Given the description of an element on the screen output the (x, y) to click on. 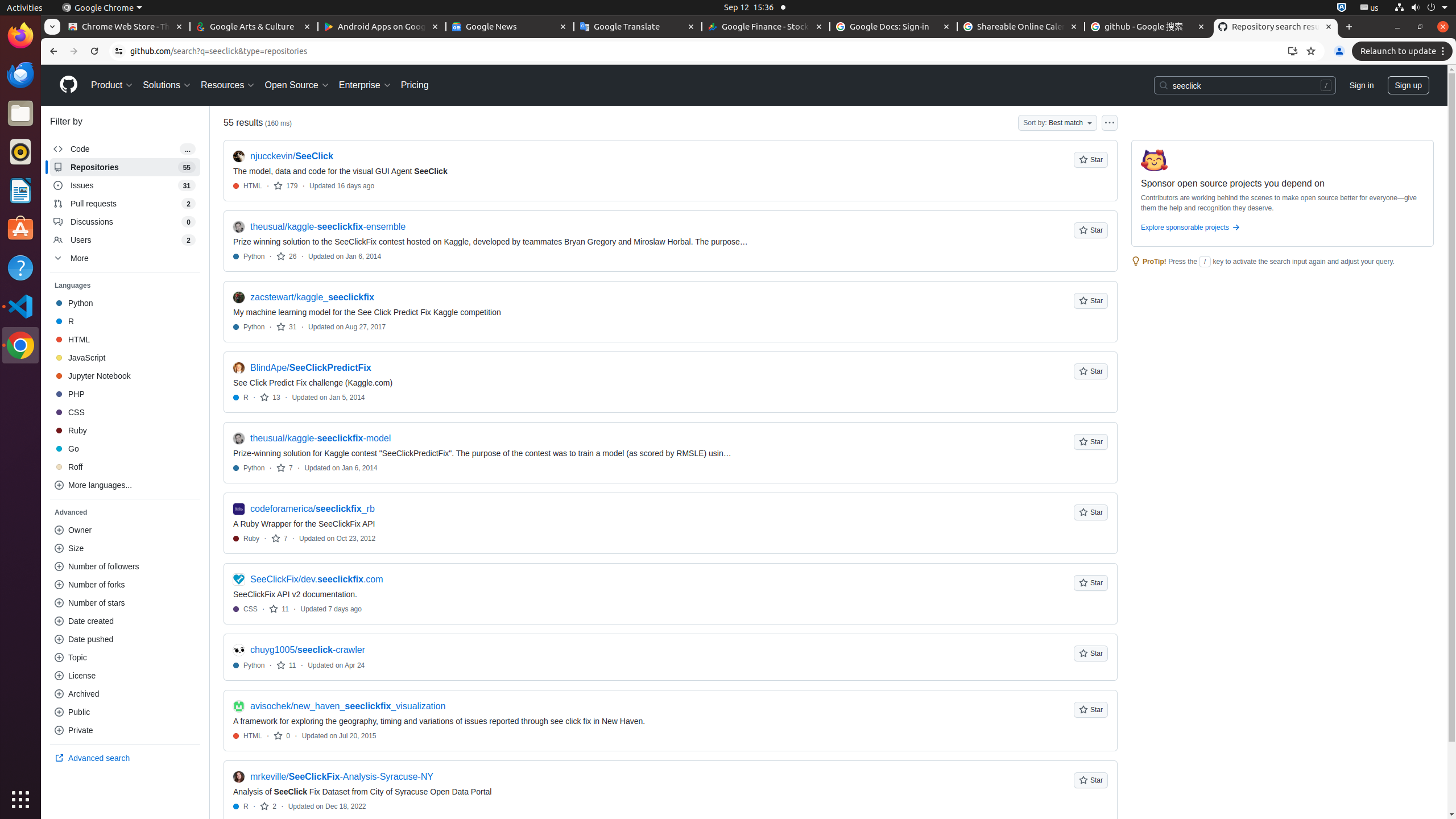
github - Google 搜索 - Memory usage - 111 MB Element type: page-tab (1148, 26)
‎Private‎ Element type: link (125, 730)
‎Go‎ Element type: link (125, 448)
Code , 0 results  (...) Element type: link (125, 148)
2 stars Element type: link (267, 805)
